Given the description of an element on the screen output the (x, y) to click on. 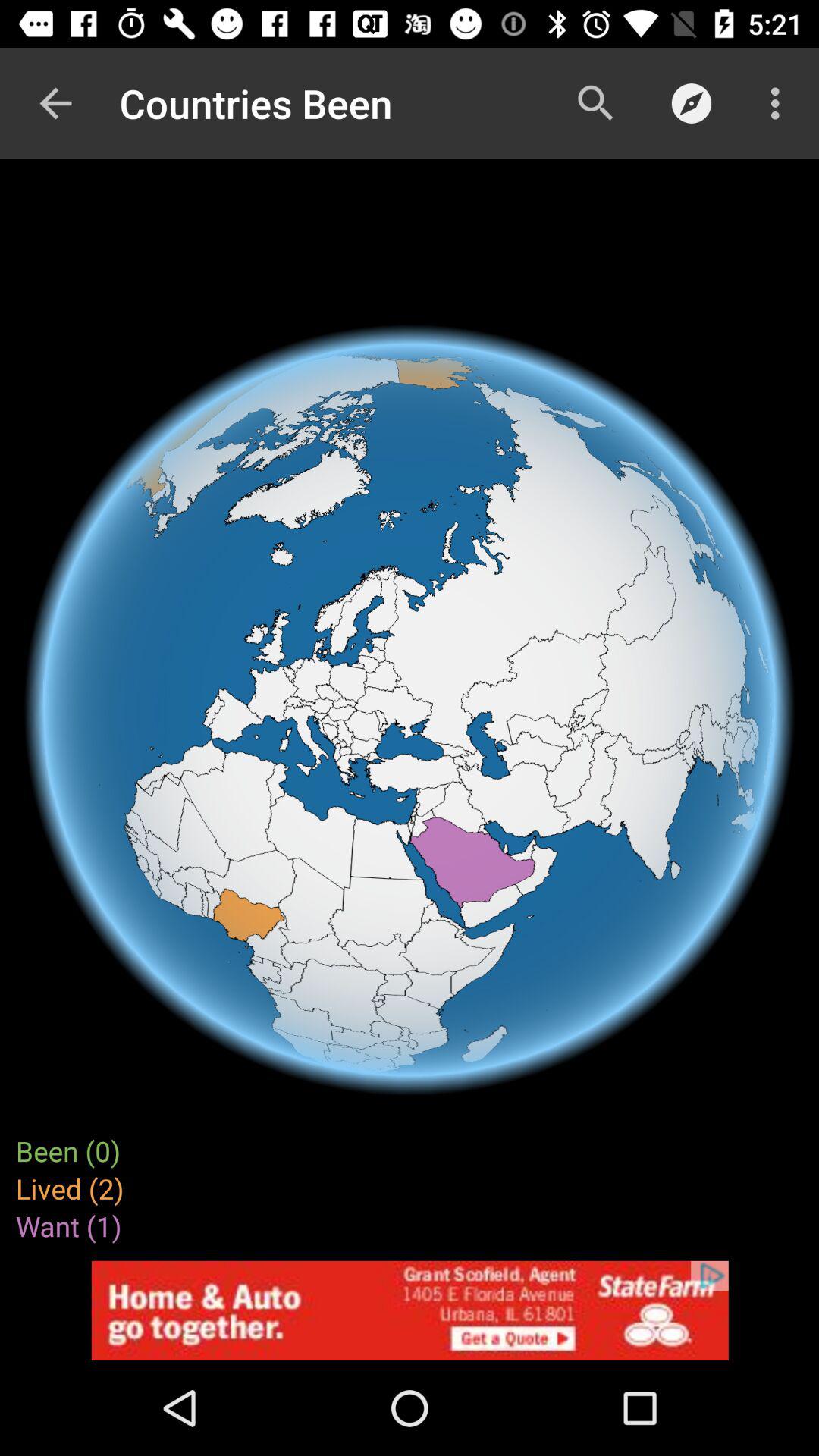
space where you access advertising (409, 1310)
